Given the description of an element on the screen output the (x, y) to click on. 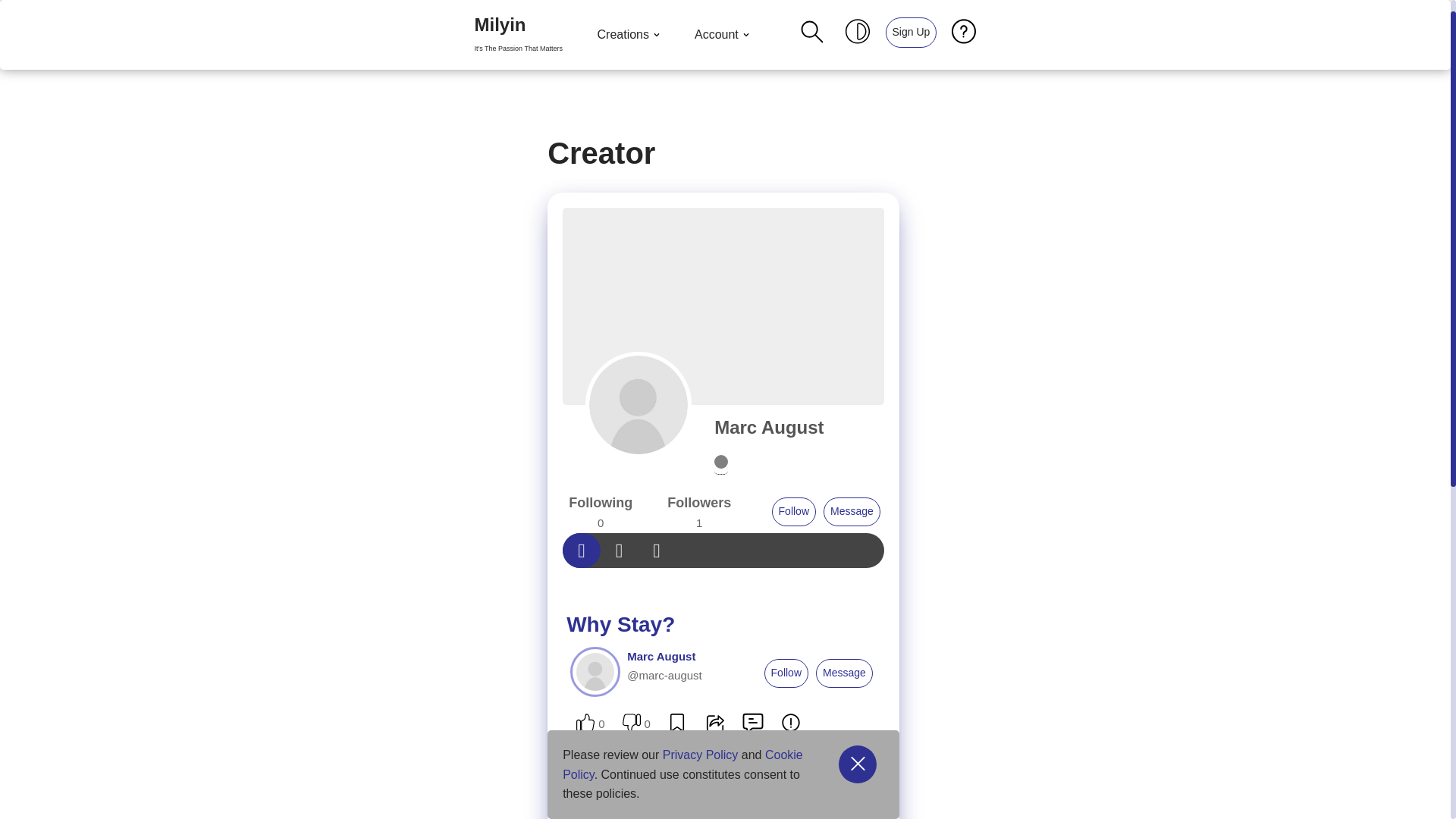
Milyin (518, 34)
Marc August (638, 404)
Creations (518, 34)
Account (629, 35)
Follow (724, 35)
Marc August (793, 511)
Marc August (769, 426)
Skip to content (769, 426)
Sign Up (11, 31)
Sign Up (910, 31)
